Given the description of an element on the screen output the (x, y) to click on. 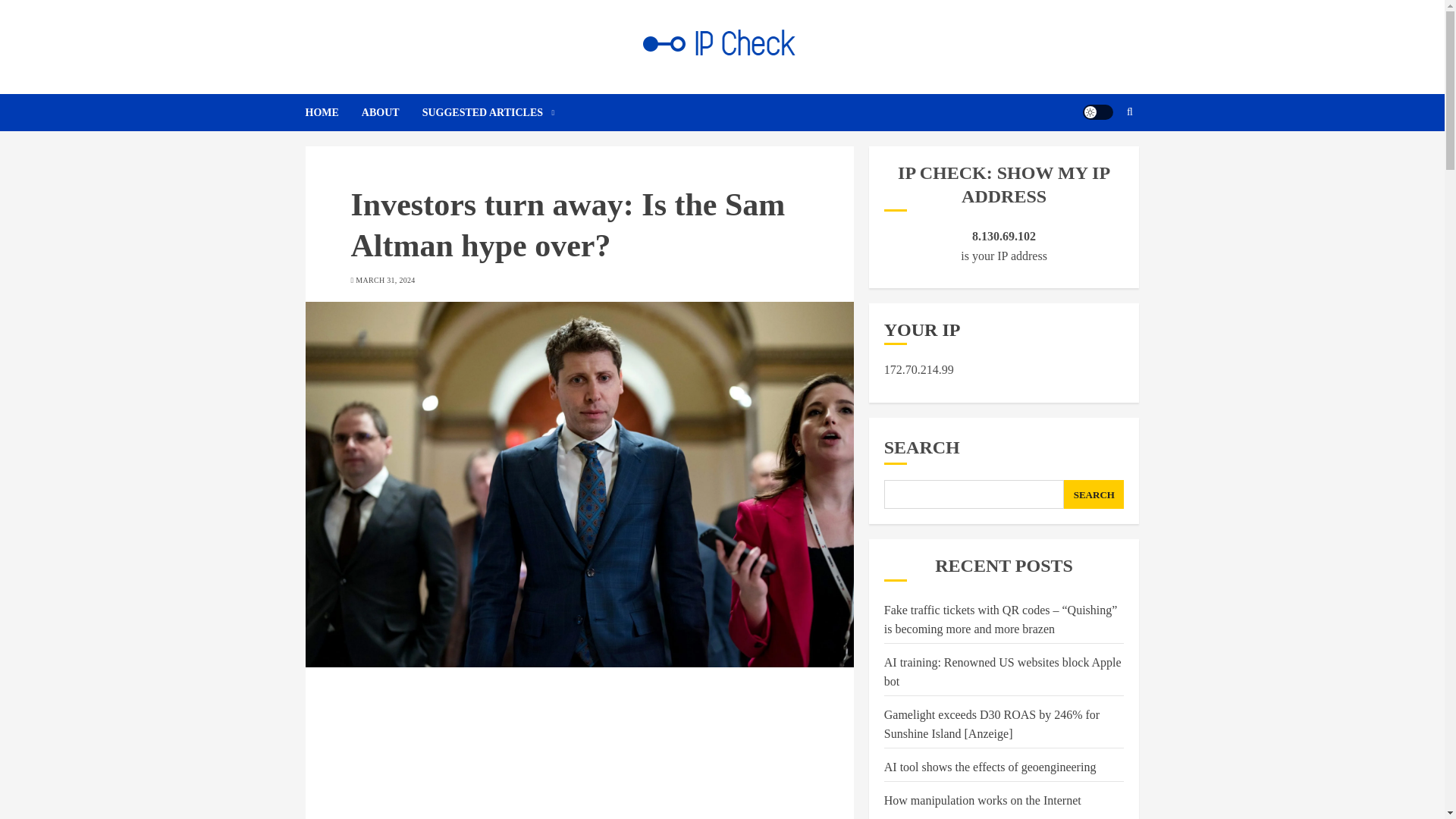
ABOUT (391, 112)
Search (1099, 158)
HOME (332, 112)
MARCH 31, 2024 (384, 280)
SUGGESTED ARTICLES (488, 112)
